Given the description of an element on the screen output the (x, y) to click on. 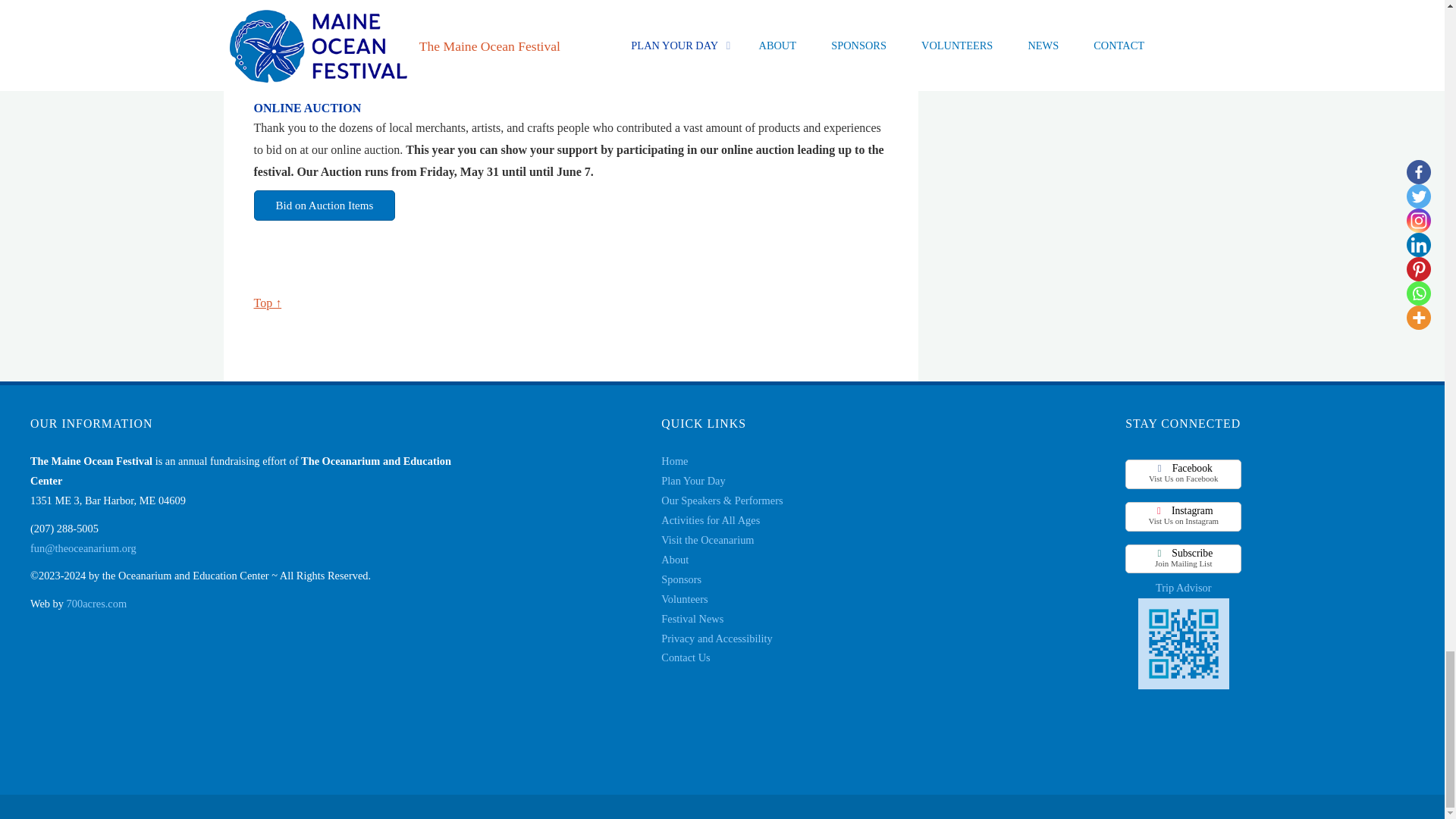
Bid on Auction Items (323, 205)
